Given the description of an element on the screen output the (x, y) to click on. 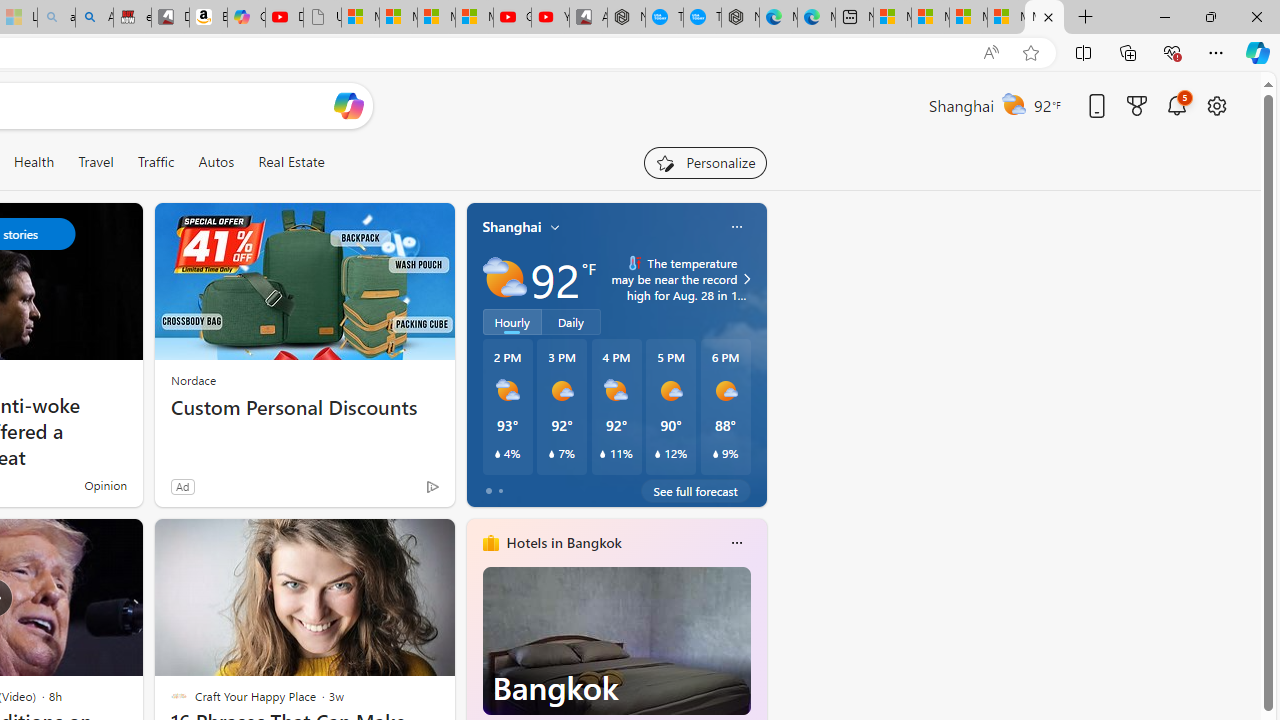
Untitled (321, 17)
Partly sunny (504, 278)
Hide this story (393, 542)
Daily (571, 321)
Open settings (1216, 105)
tab-0 (488, 490)
Partly sunny (504, 278)
